Given the description of an element on the screen output the (x, y) to click on. 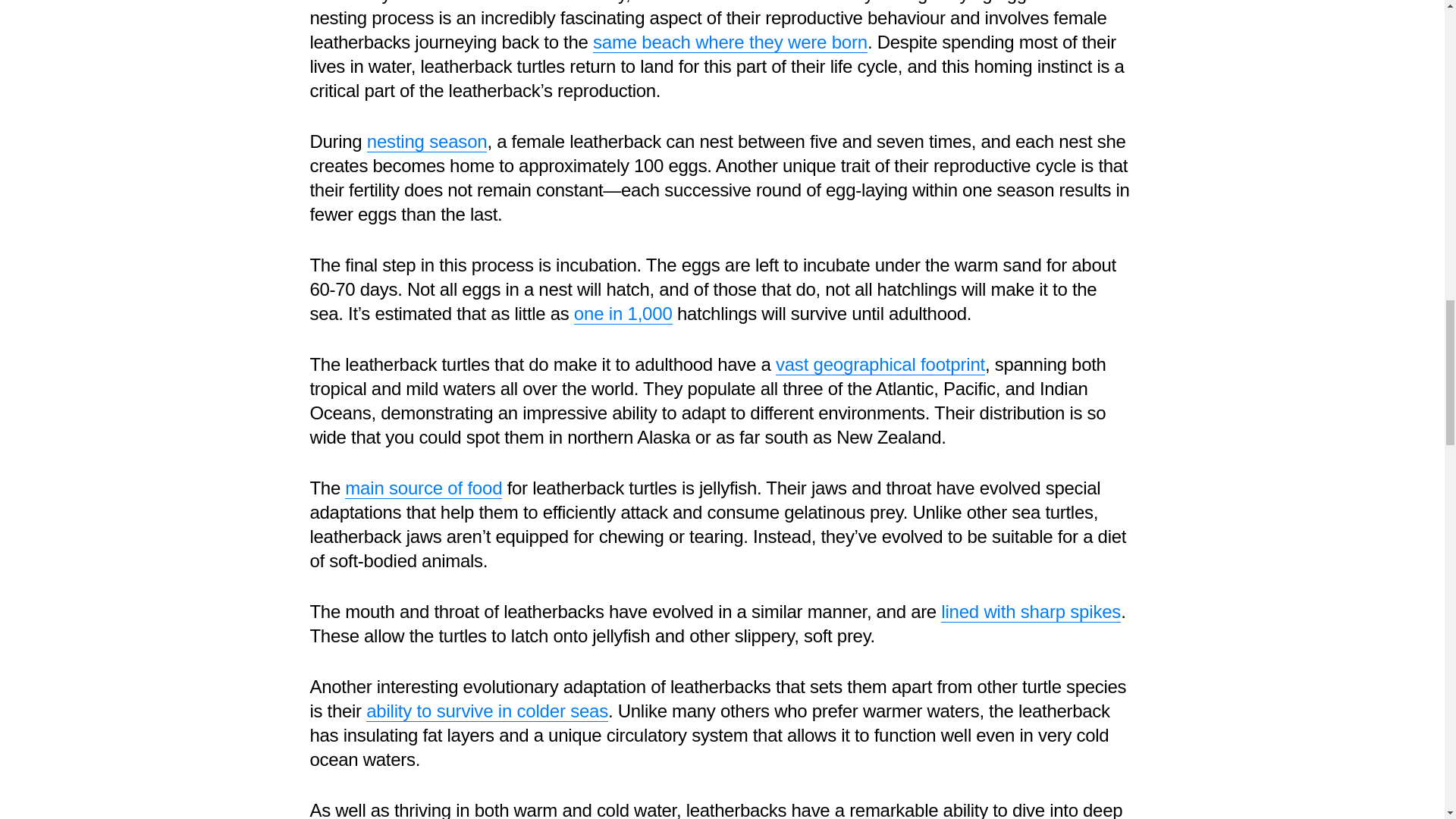
same beach where they were born (729, 42)
nesting season (426, 141)
main source of food (423, 487)
ability to survive in colder seas (487, 711)
one in 1,000 (622, 313)
lined with sharp spikes (1030, 611)
vast geographical footprint (880, 364)
